Given the description of an element on the screen output the (x, y) to click on. 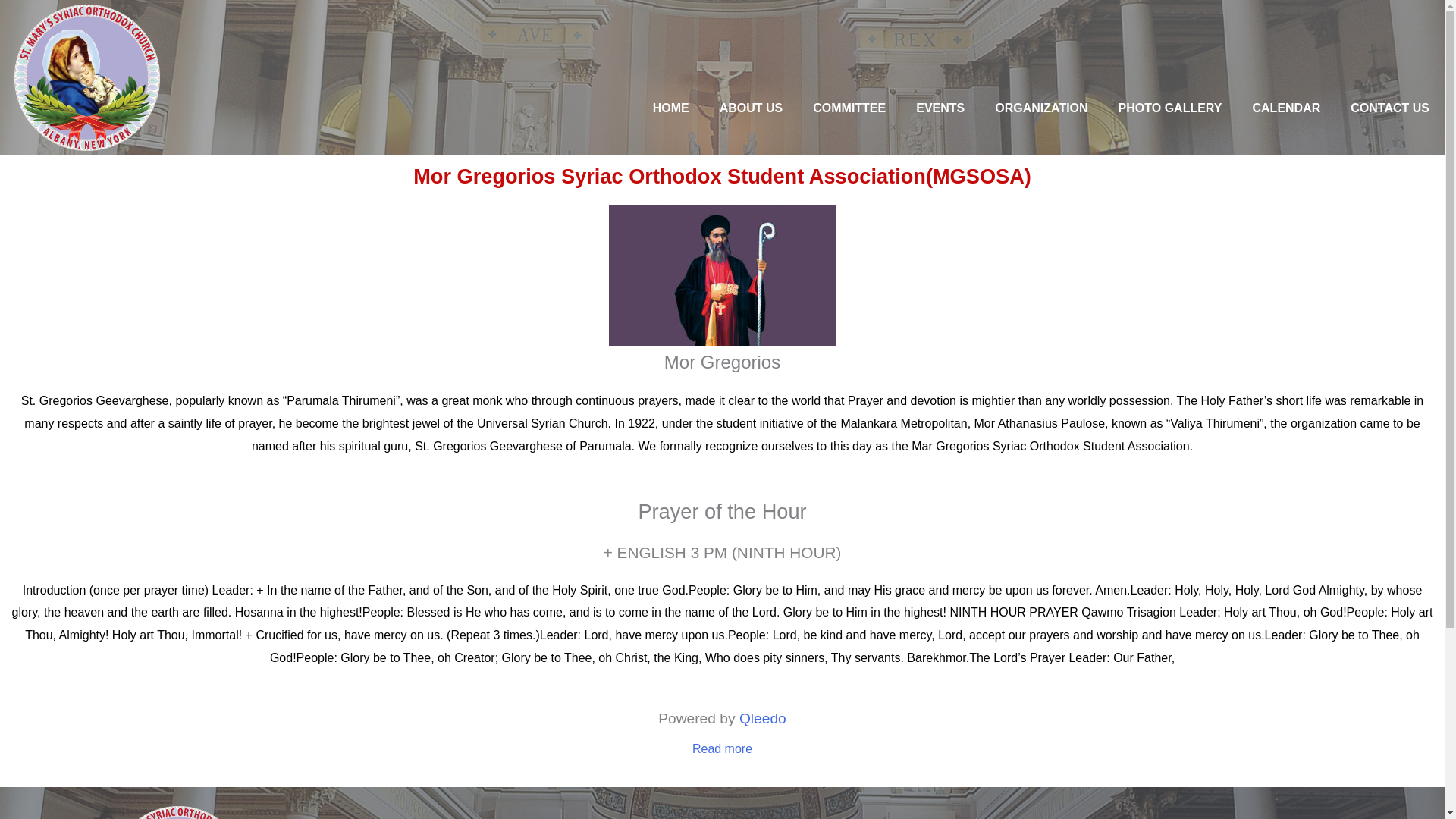
ORGANIZATION (1040, 108)
COMMITTEE (849, 108)
ABOUT US (750, 108)
CALENDAR (1286, 108)
EVENTS (940, 108)
PHOTO GALLERY (1170, 108)
Read more (722, 748)
Qleedo (762, 718)
HOME (670, 108)
